Given the description of an element on the screen output the (x, y) to click on. 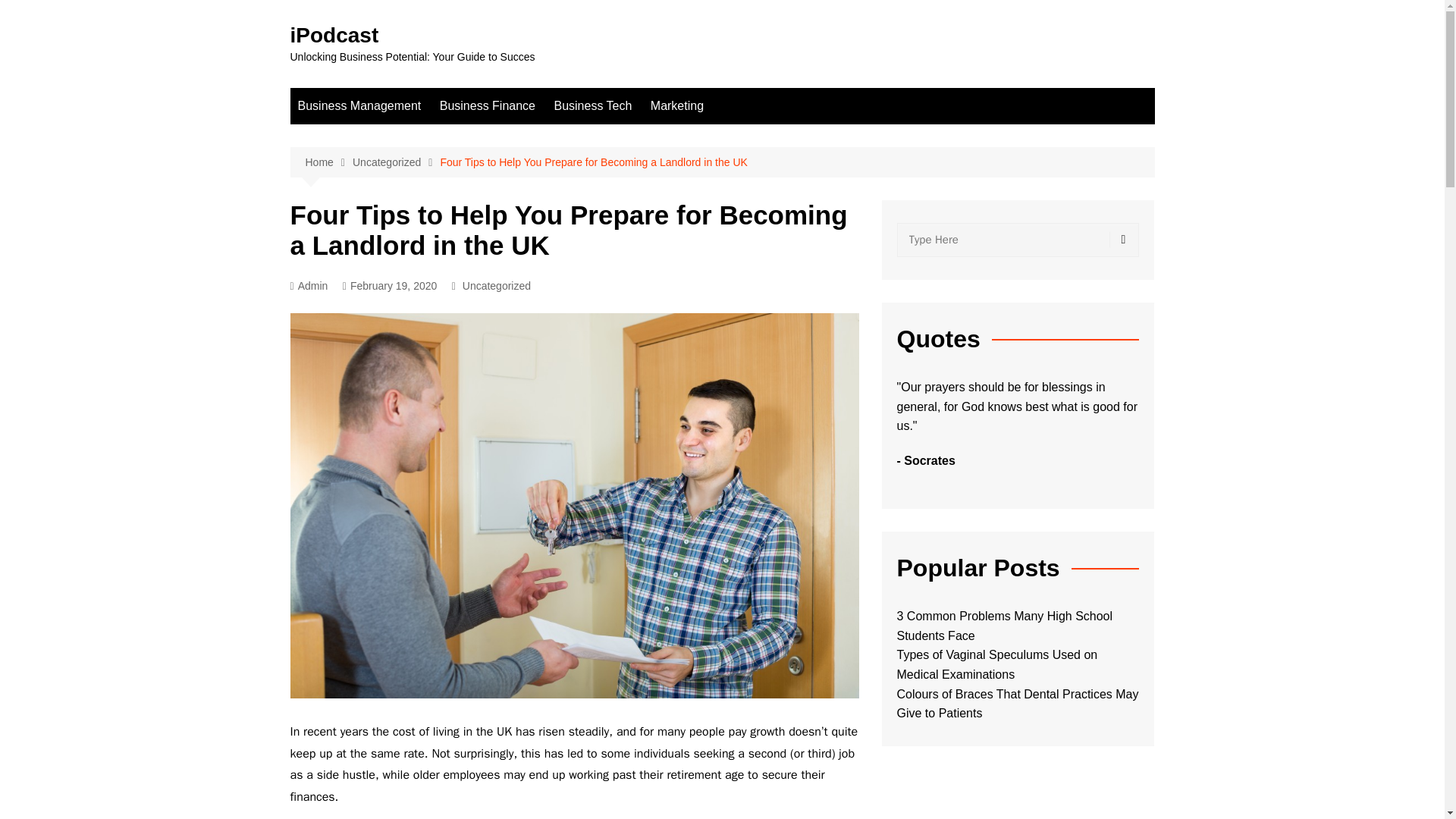
Marketing (677, 105)
February 19, 2020 (390, 285)
Home (328, 162)
Admin (308, 285)
Business Management (358, 105)
iPodcast (333, 34)
Business Tech (592, 105)
Business Finance (487, 105)
Uncategorized (395, 162)
Uncategorized (497, 285)
